Given the description of an element on the screen output the (x, y) to click on. 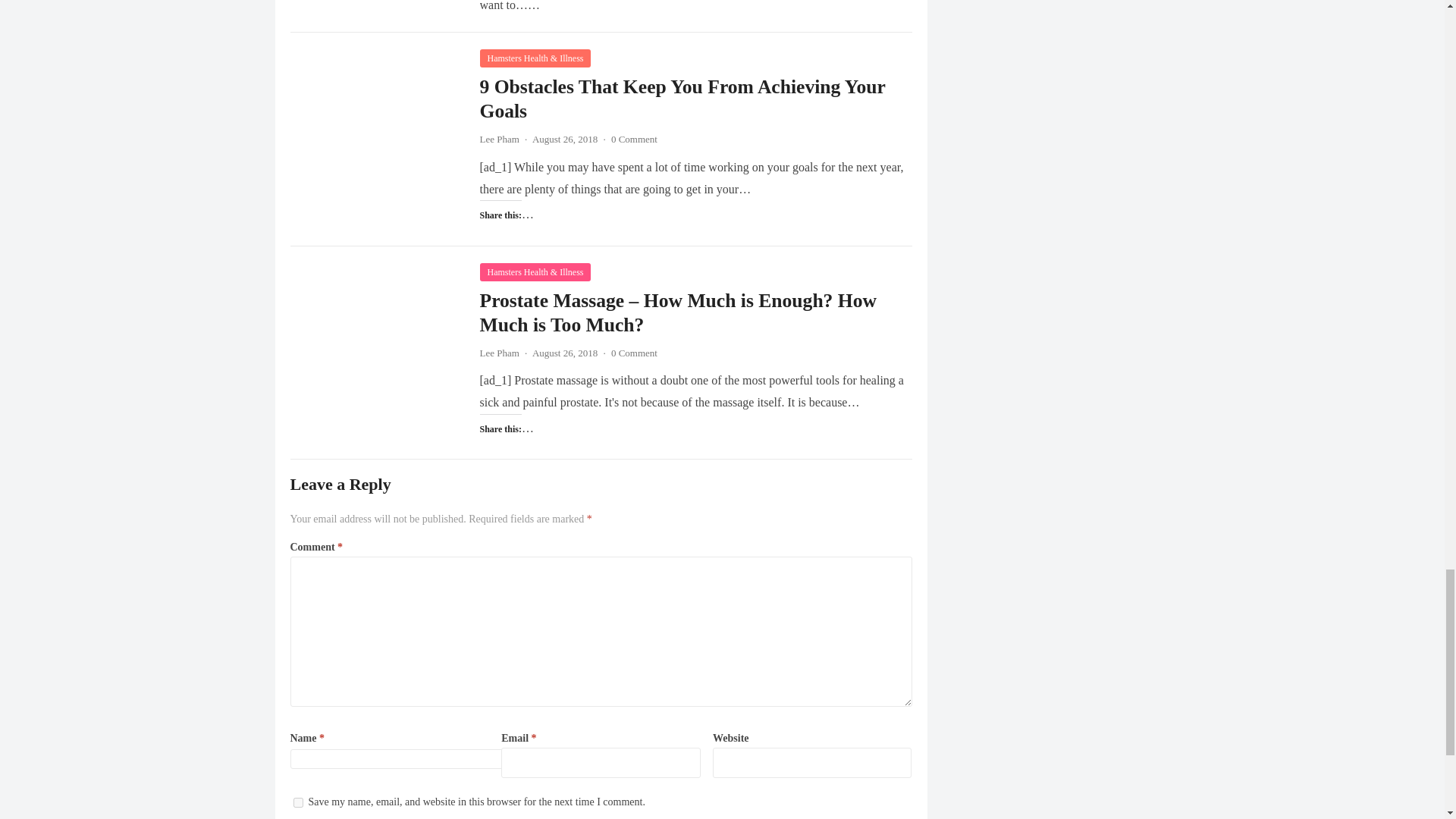
yes (297, 802)
Click to share on Twitter (491, 58)
Click to share on Facebook (521, 58)
